Given the description of an element on the screen output the (x, y) to click on. 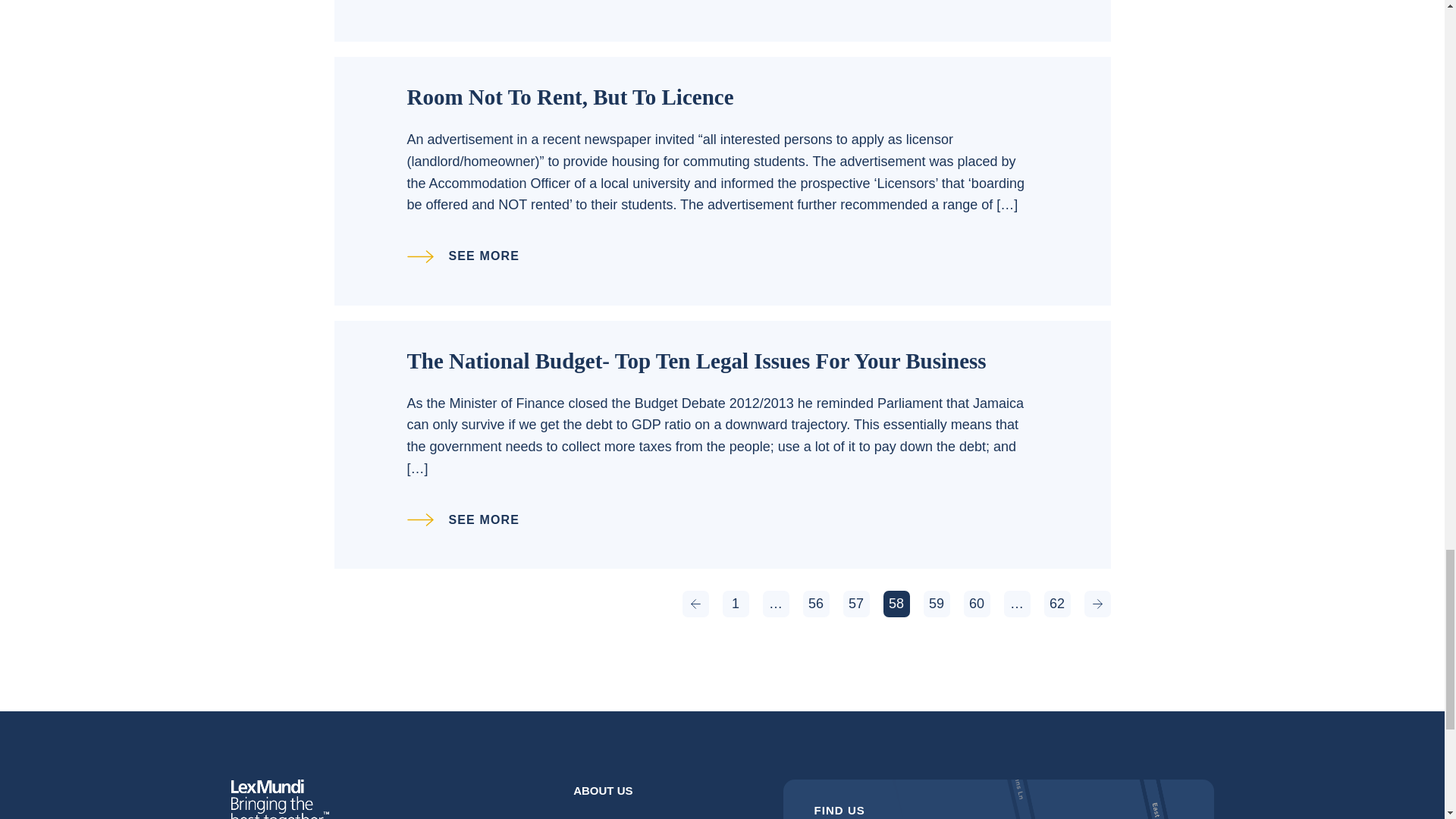
57 (856, 603)
1 (735, 603)
62 (1056, 603)
ABOUT US (602, 790)
60 (976, 603)
56 (815, 603)
59 (936, 603)
